Given the description of an element on the screen output the (x, y) to click on. 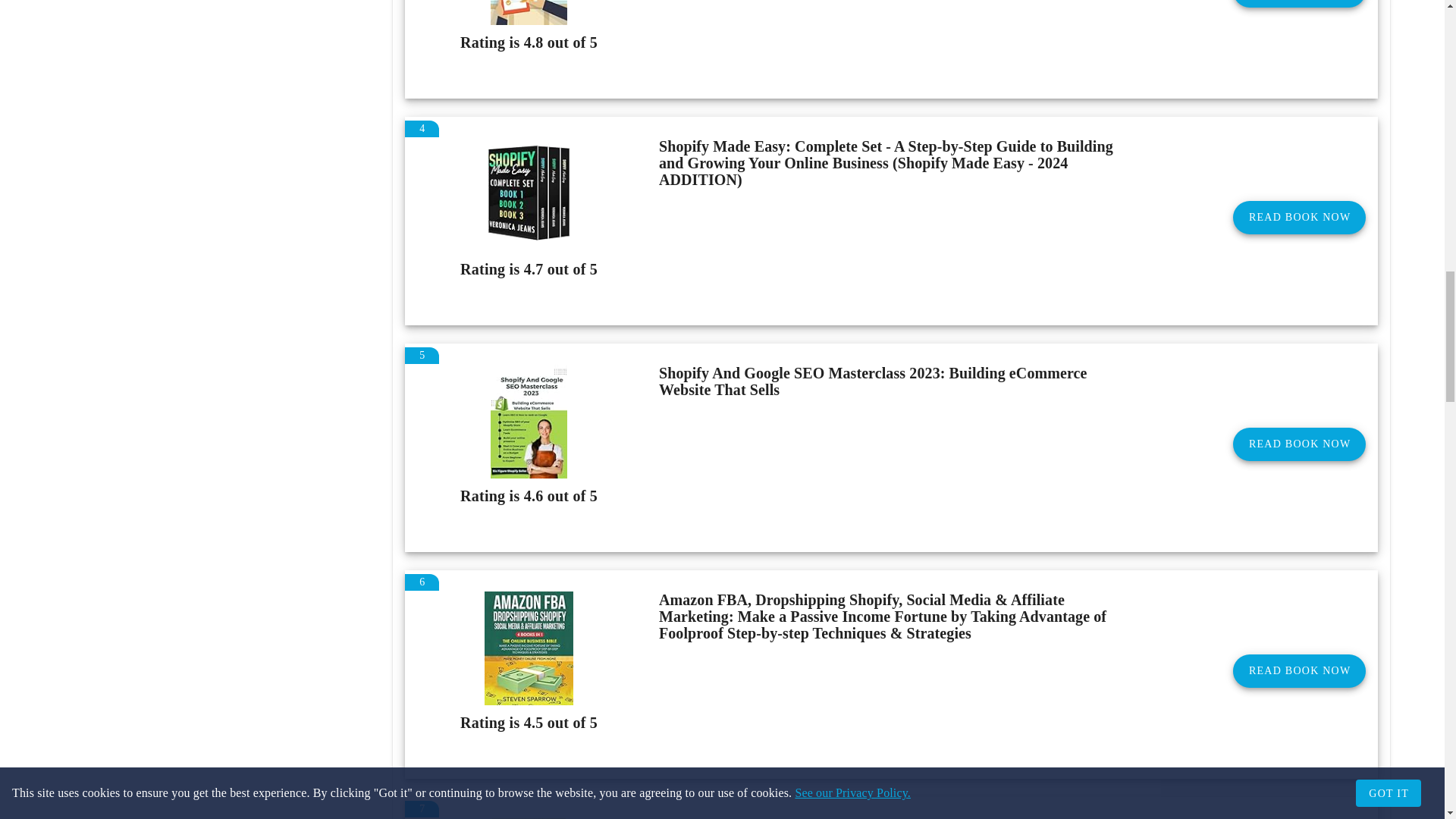
READ BOOK NOW (1299, 3)
READ BOOK NOW (1299, 217)
READ BOOK NOW (1299, 444)
